Given the description of an element on the screen output the (x, y) to click on. 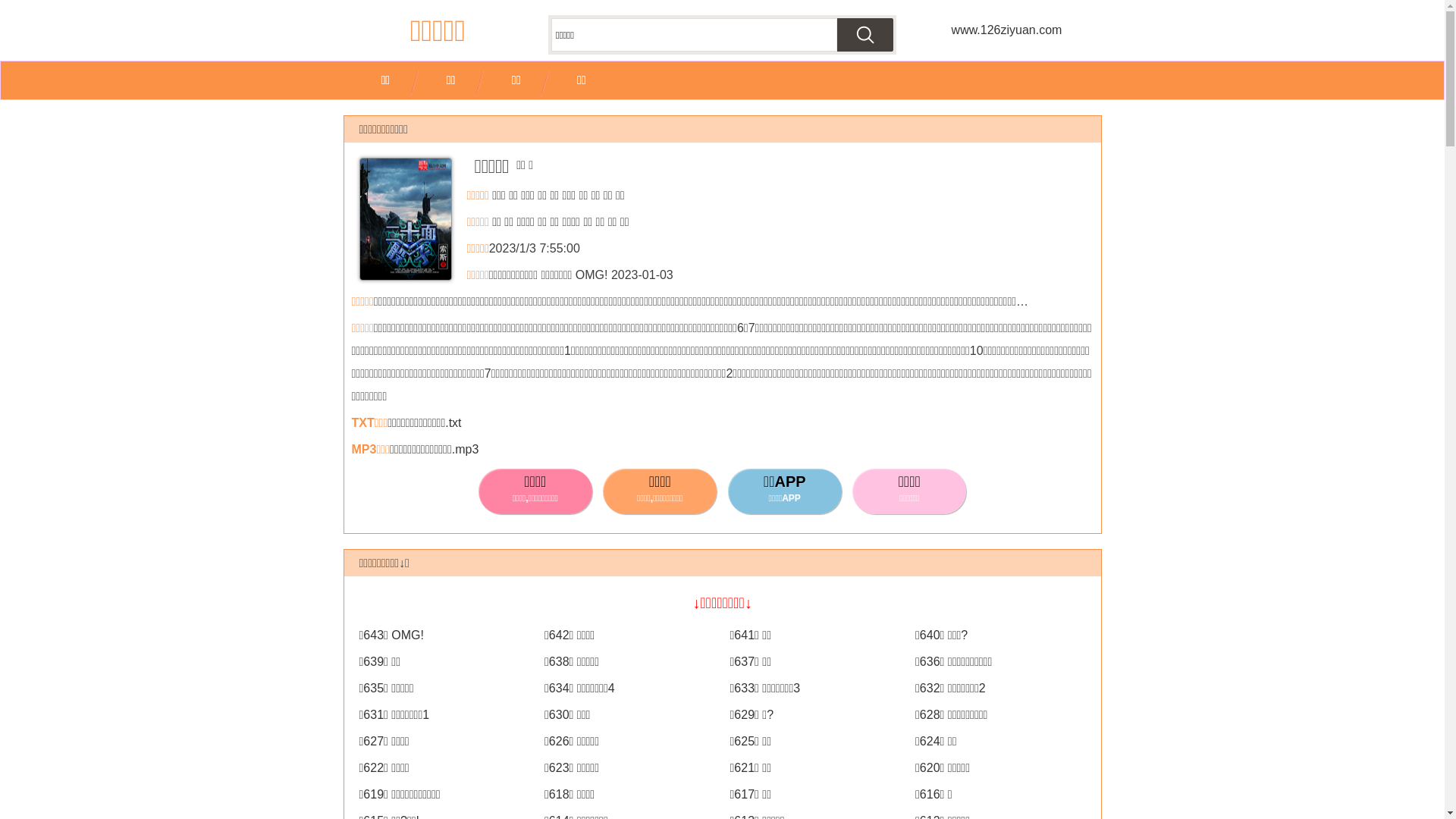
www.126ziyuan.com Element type: text (1006, 30)
